Given the description of an element on the screen output the (x, y) to click on. 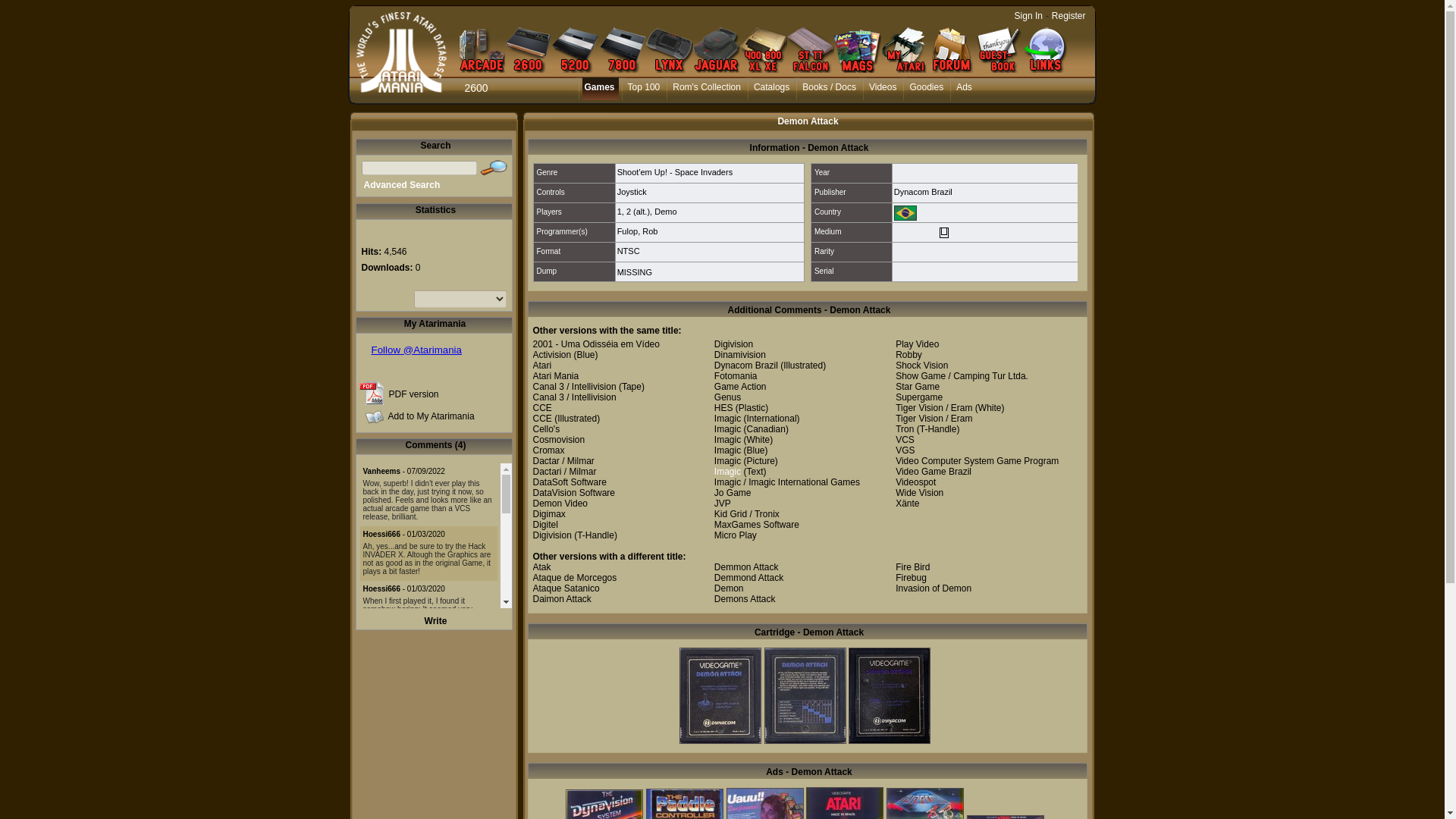
Search (493, 167)
Write a comment (435, 620)
Ads (964, 87)
PDF version (413, 394)
Register (1068, 15)
Advanced Search (402, 184)
Shoot'em Up! - Space Invaders (675, 171)
Rom's Collection (706, 87)
Goodies (927, 87)
Games (600, 87)
Top 100 (644, 87)
Fulop, Rob (637, 230)
Sign In (1028, 15)
Demo (665, 211)
Catalogs (772, 87)
